Given the description of an element on the screen output the (x, y) to click on. 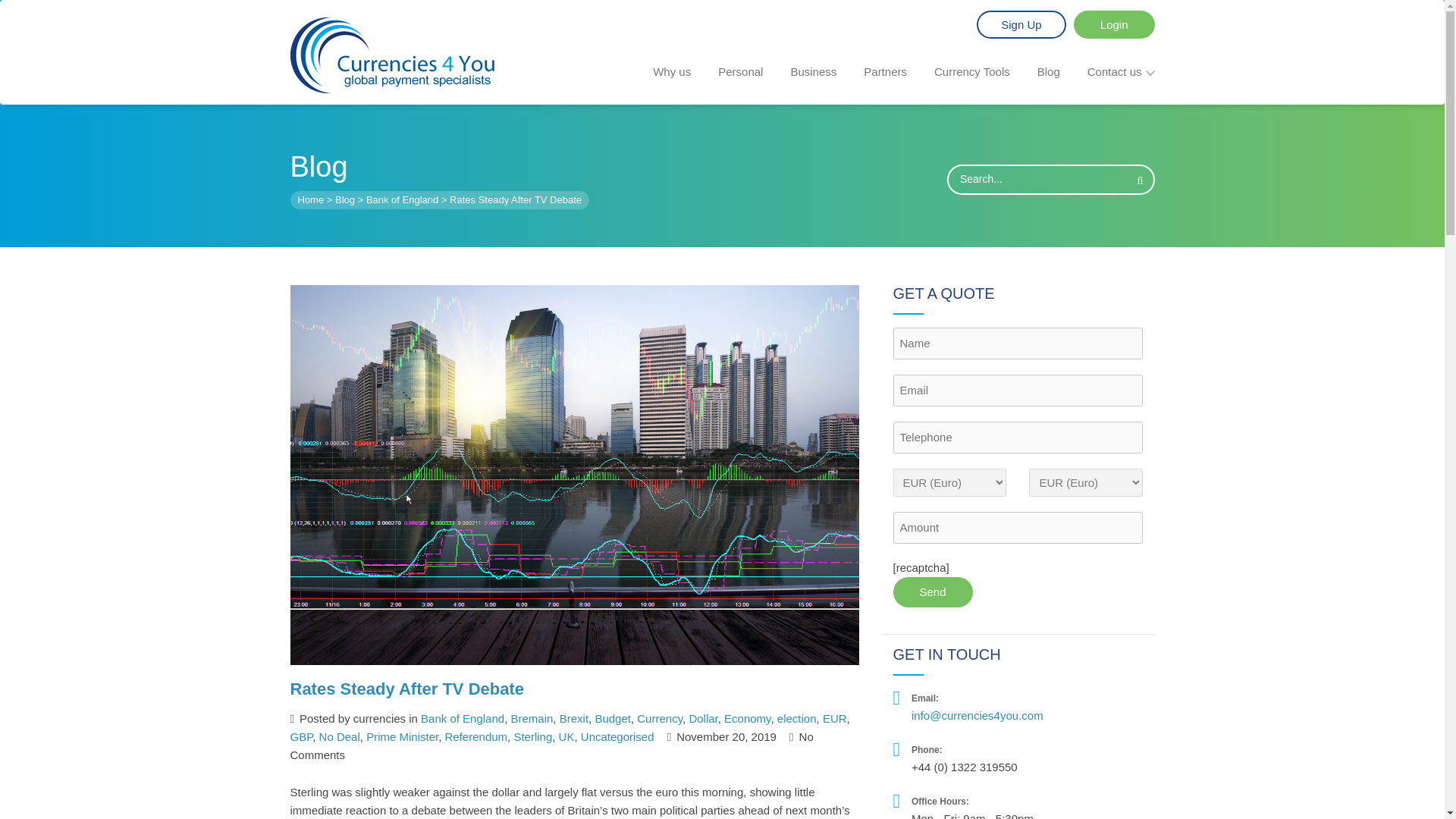
GBP (301, 736)
Dollar (702, 717)
Go to Blog. (344, 199)
Economy (746, 717)
EUR (834, 717)
Currency Tools (972, 71)
Brexit (573, 717)
Bremain (532, 717)
Contact us (1120, 71)
Login (1114, 24)
